Given the description of an element on the screen output the (x, y) to click on. 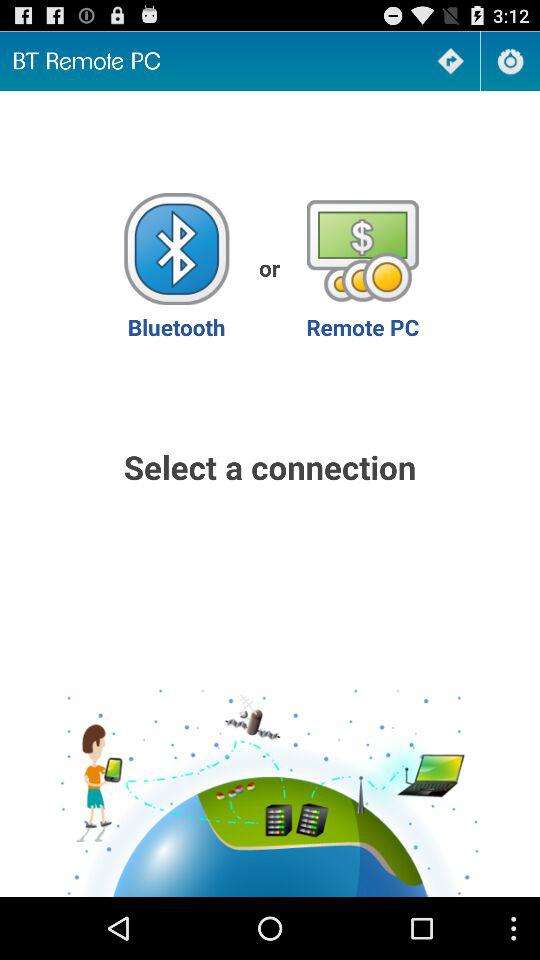
select item next to the or app (176, 267)
